Given the description of an element on the screen output the (x, y) to click on. 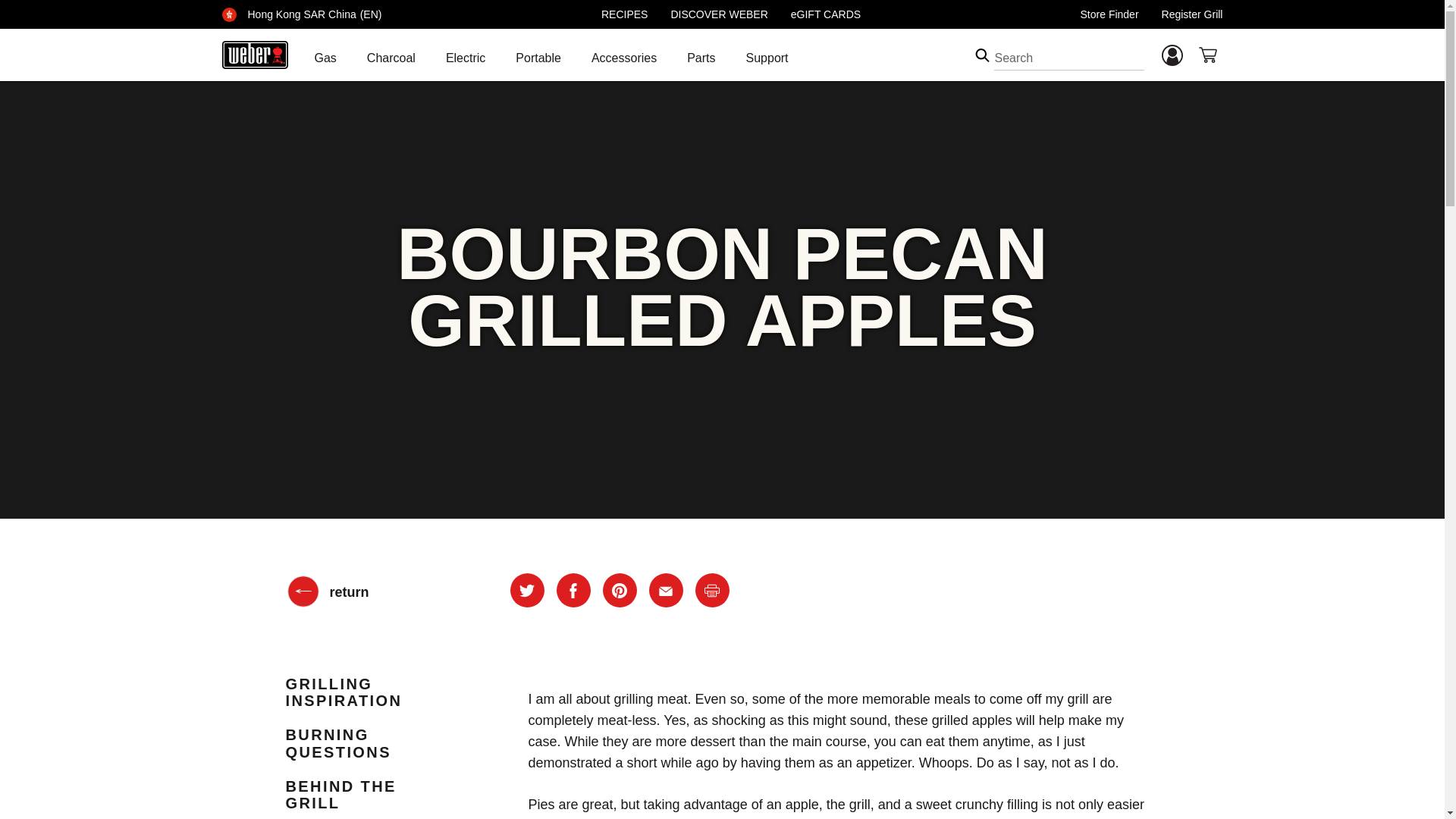
Gas (325, 60)
Charcoal (390, 60)
Hong Kong SAR China (228, 14)
Hong Kong SAR China (301, 13)
RECIPES (624, 14)
Gas (325, 60)
Gas (325, 57)
DISCOVER WEBER (718, 14)
Charcoal (390, 60)
Charcoal (390, 57)
Register Grill (1192, 14)
Store Finder (1109, 14)
eGIFT CARDS (825, 14)
Register Grill (1192, 14)
Commerce Cloud Storefront Reference Architecture Home (253, 53)
